Given the description of an element on the screen output the (x, y) to click on. 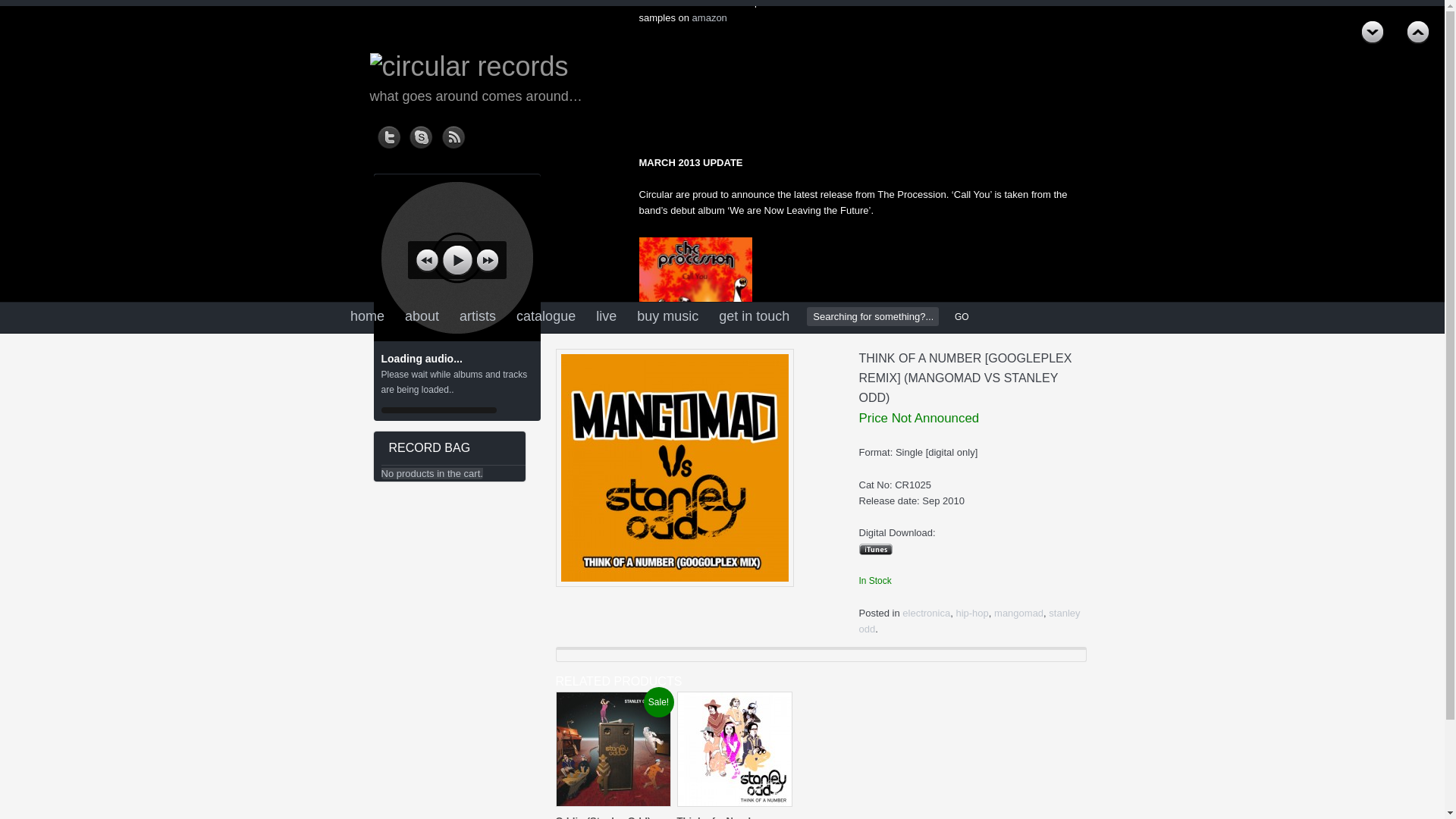
Next (1418, 32)
GO (959, 316)
Link to Twitter (389, 133)
Previous (1372, 32)
skype (421, 133)
Next (1418, 32)
home (366, 316)
buy music (667, 316)
Previous (1372, 32)
Searching for something?... (872, 316)
rss (453, 133)
GO (959, 316)
Link to RSS (453, 133)
Link to Skype (421, 133)
live (606, 316)
